Given the description of an element on the screen output the (x, y) to click on. 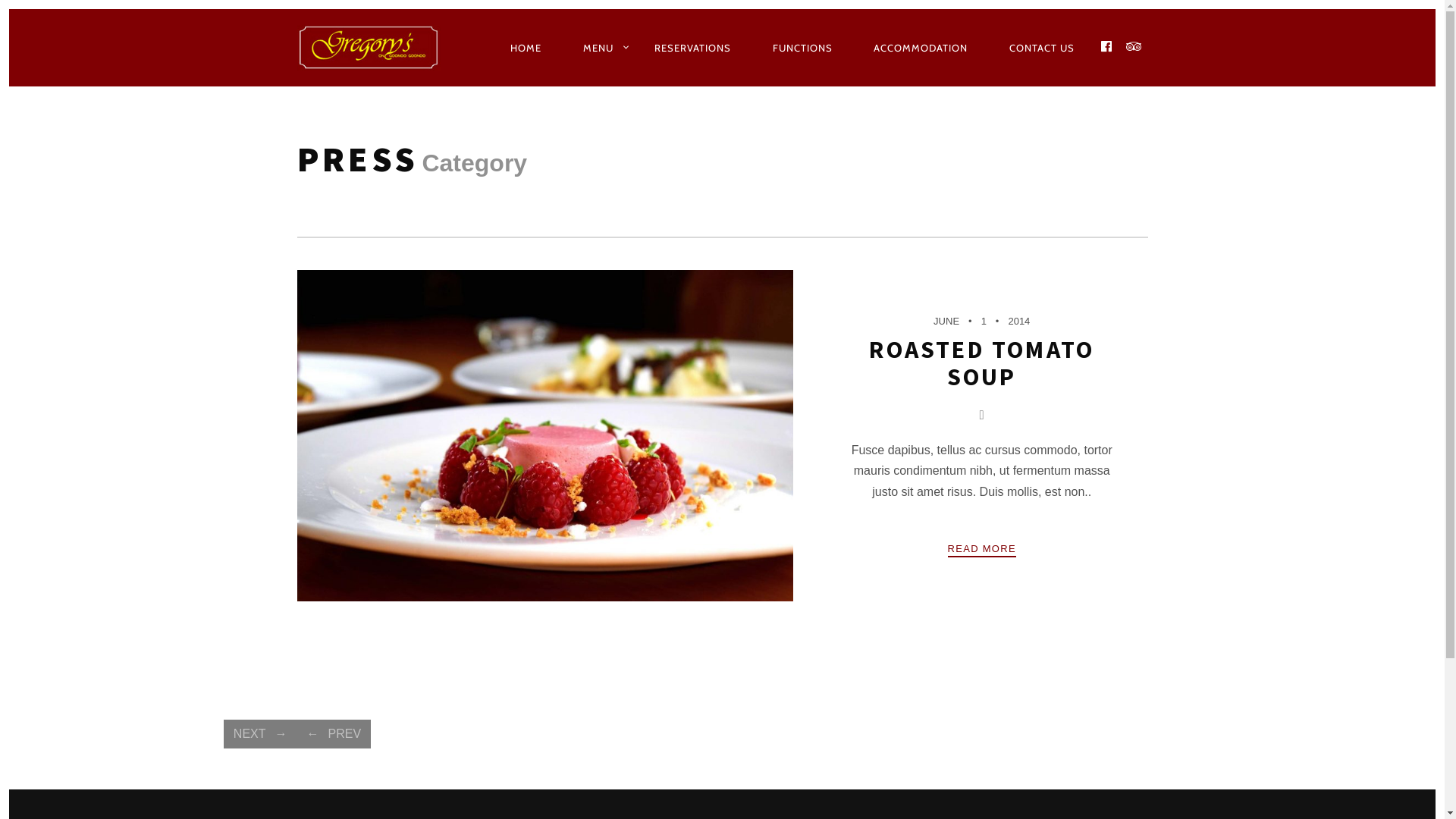
MENU Element type: text (598, 47)
TRIPADVISOR Element type: text (1134, 46)
ACCOMMODATION Element type: text (920, 47)
READ MORE Element type: text (981, 549)
HOME Element type: text (525, 47)
CONTACT US Element type: text (1041, 47)
Gregory's Restaurant Element type: hover (373, 47)
RESERVATIONS Element type: text (692, 47)
FACEBOOK Element type: text (1106, 46)
FUNCTIONS Element type: text (802, 47)
ROASTED TOMATO SOUP Element type: text (981, 362)
